Given the description of an element on the screen output the (x, y) to click on. 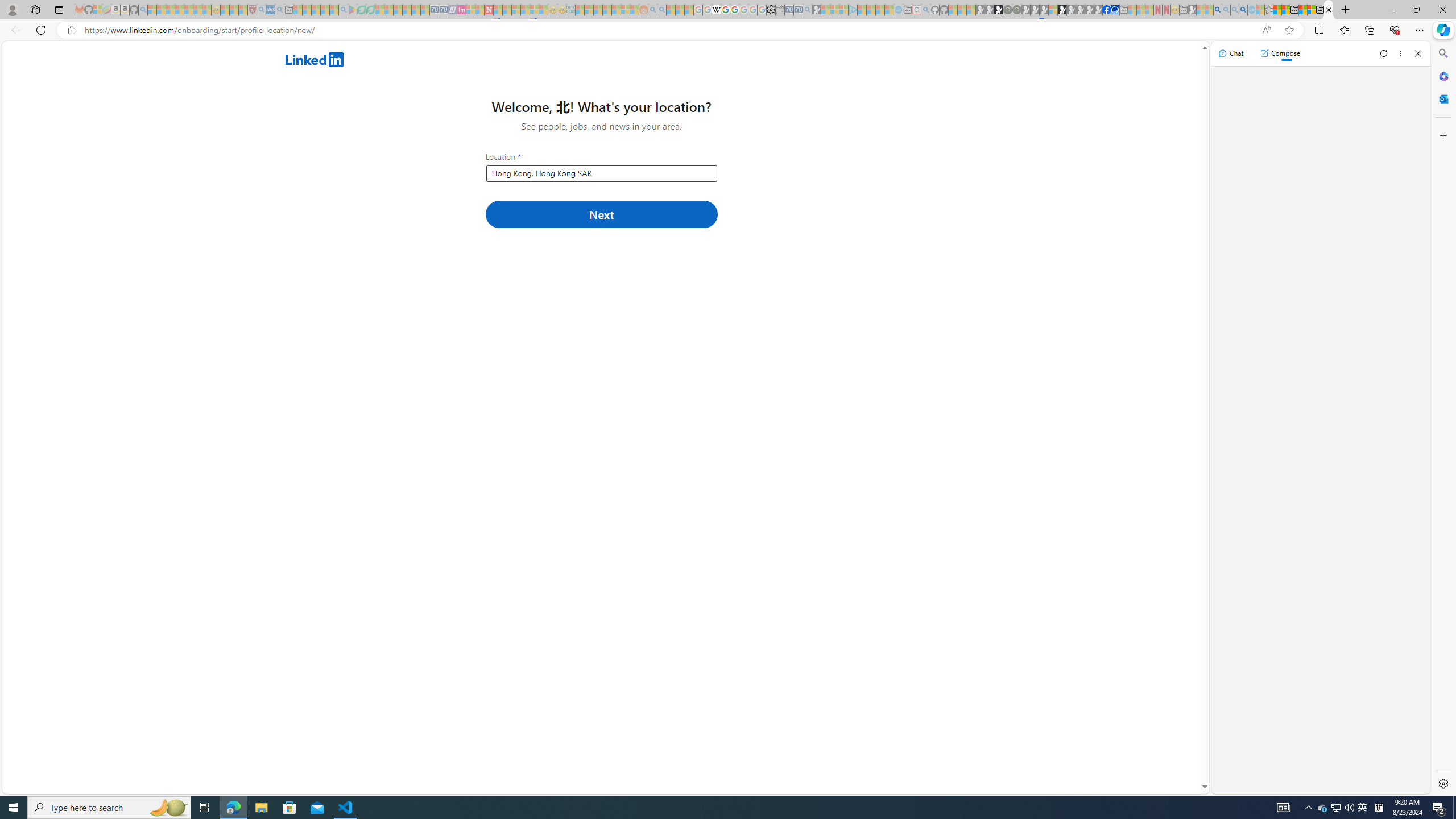
google - Search - Sleeping (342, 9)
Aberdeen, Hong Kong SAR weather forecast | Microsoft Weather (1285, 9)
Robert H. Shmerling, MD - Harvard Health - Sleeping (252, 9)
Target page - Wikipedia - Sleeping (716, 9)
